Given the description of an element on the screen output the (x, y) to click on. 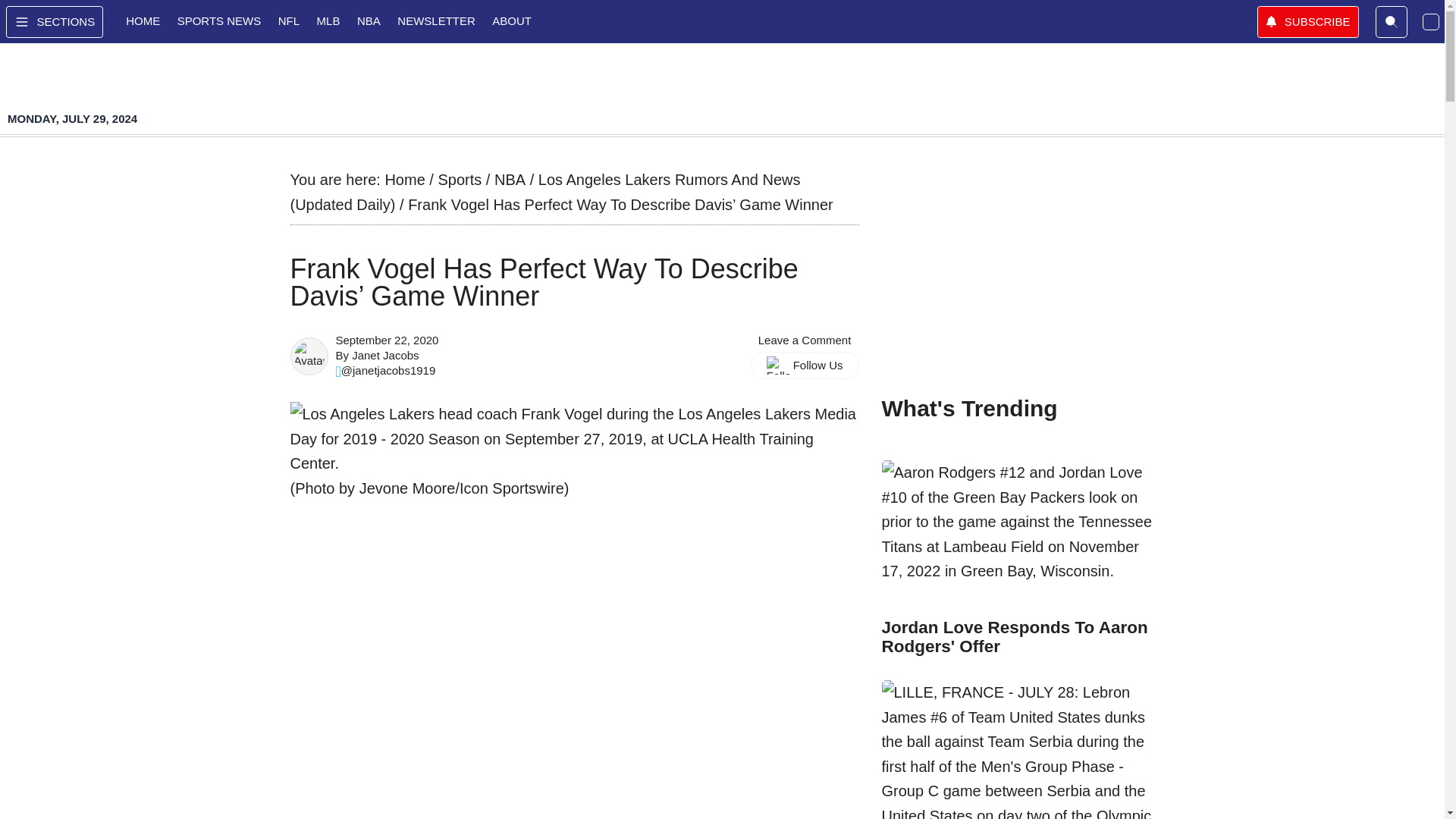
Search (1391, 21)
Open Menu (54, 21)
